Given the description of an element on the screen output the (x, y) to click on. 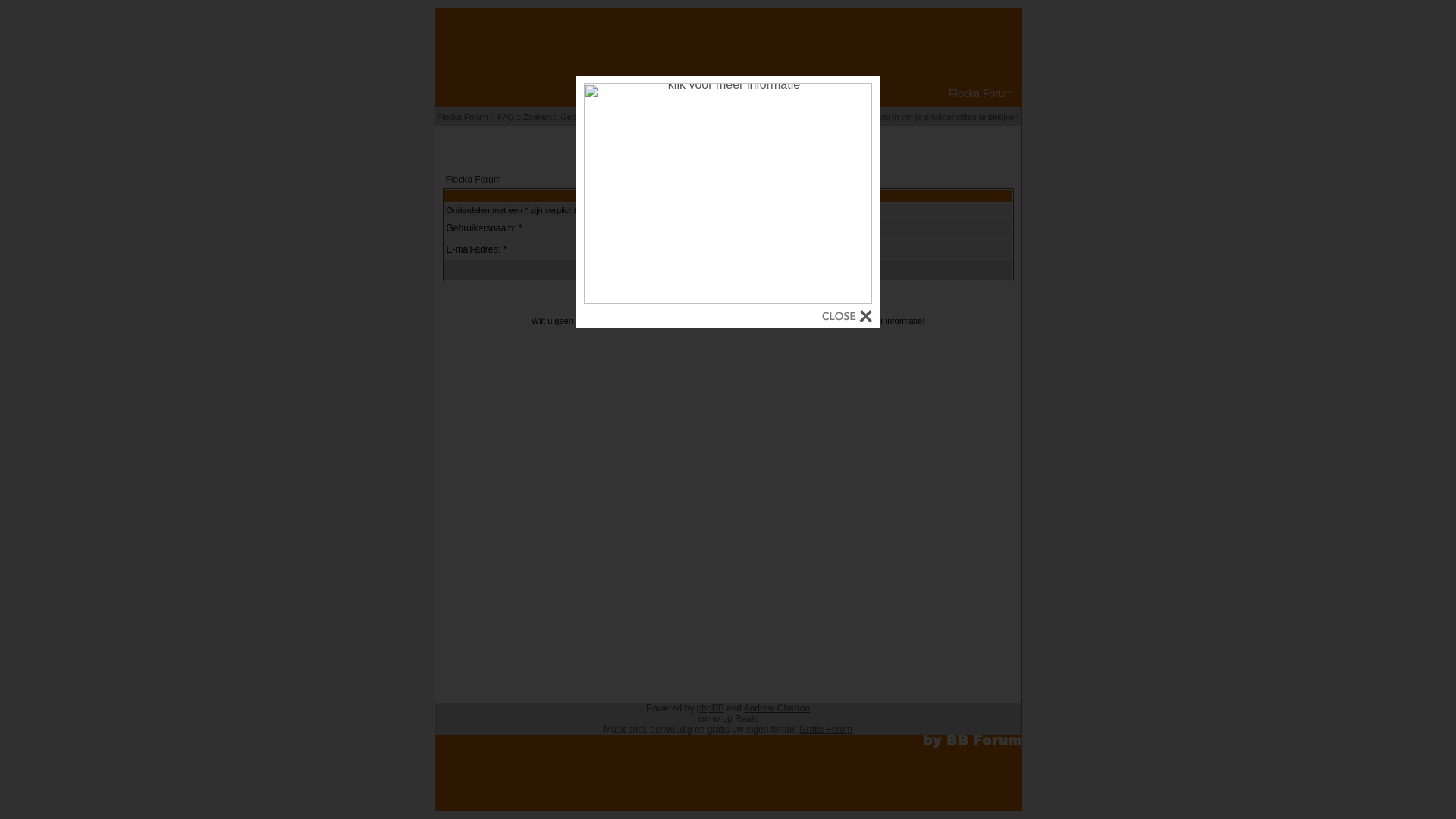
klik voor meer informatie Element type: hover (727, 299)
FAQ Element type: text (505, 116)
immo op Realo Element type: text (728, 718)
hier Element type: text (836, 320)
Flocka Forum Element type: text (473, 179)
Viraal Nieuws Element type: text (727, 144)
Gebruikerslijst Element type: text (586, 116)
Verzenden Element type: text (694, 269)
Inloggen Element type: text (818, 116)
Gebruikersgroepen Element type: text (657, 116)
Profiel Element type: text (854, 116)
Registreren Element type: text (771, 116)
Zoeken Element type: text (537, 116)
Andrew Charron Element type: text (776, 707)
Gratis Forum Element type: text (825, 729)
sluiten Element type: hover (847, 318)
phpBB Element type: text (710, 707)
Flocka Forum Element type: text (462, 116)
